Given the description of an element on the screen output the (x, y) to click on. 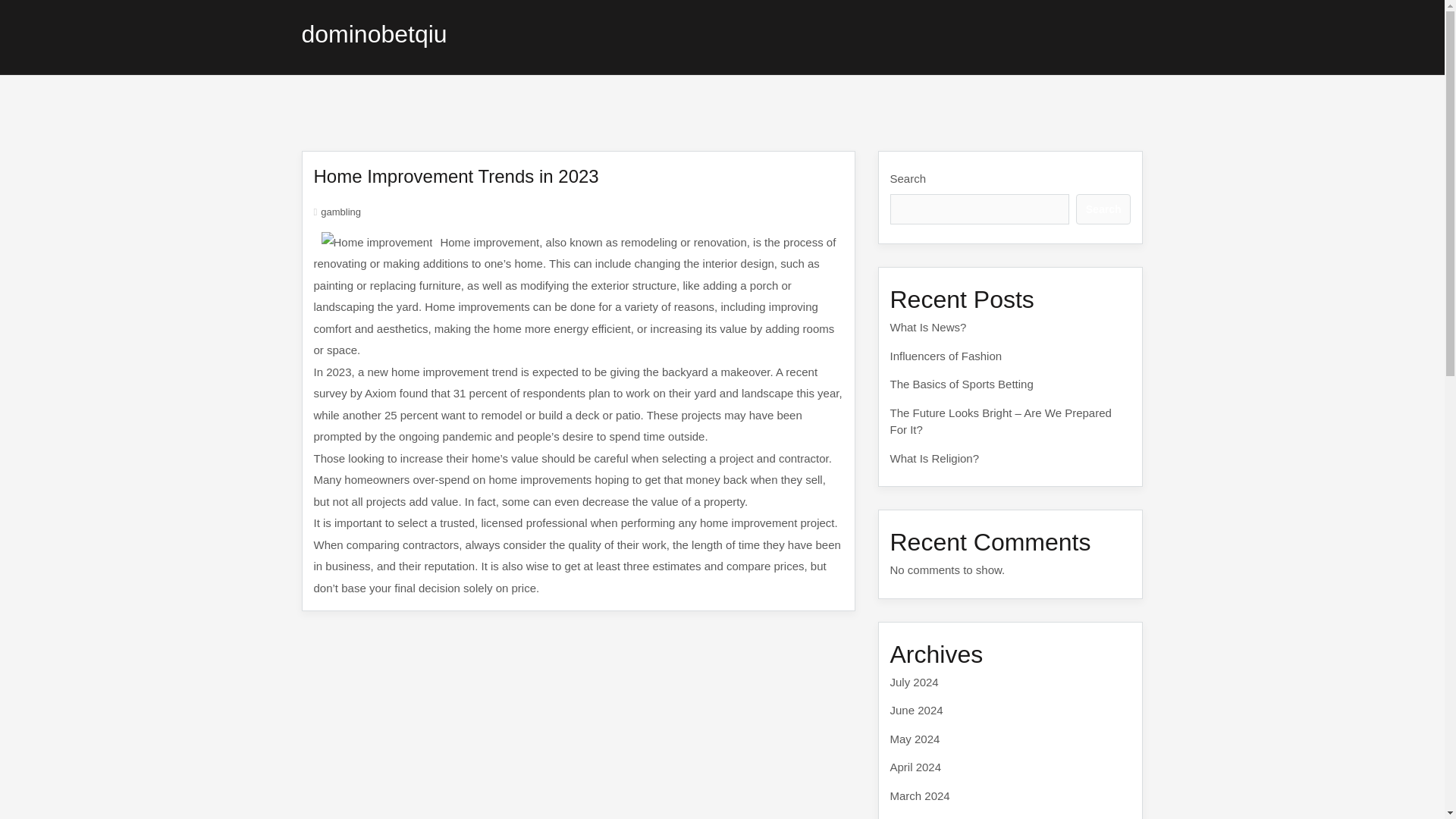
July 2024 (914, 680)
gambling (340, 211)
April 2024 (915, 766)
May 2024 (914, 738)
What Is News? (927, 327)
The Basics of Sports Betting (961, 383)
February 2024 (926, 818)
dominobetqiu (373, 33)
What Is Religion? (934, 458)
Influencers of Fashion (946, 354)
Home Improvement Trends in 2023 (456, 176)
Search (1103, 209)
March 2024 (919, 794)
June 2024 (916, 709)
